Given the description of an element on the screen output the (x, y) to click on. 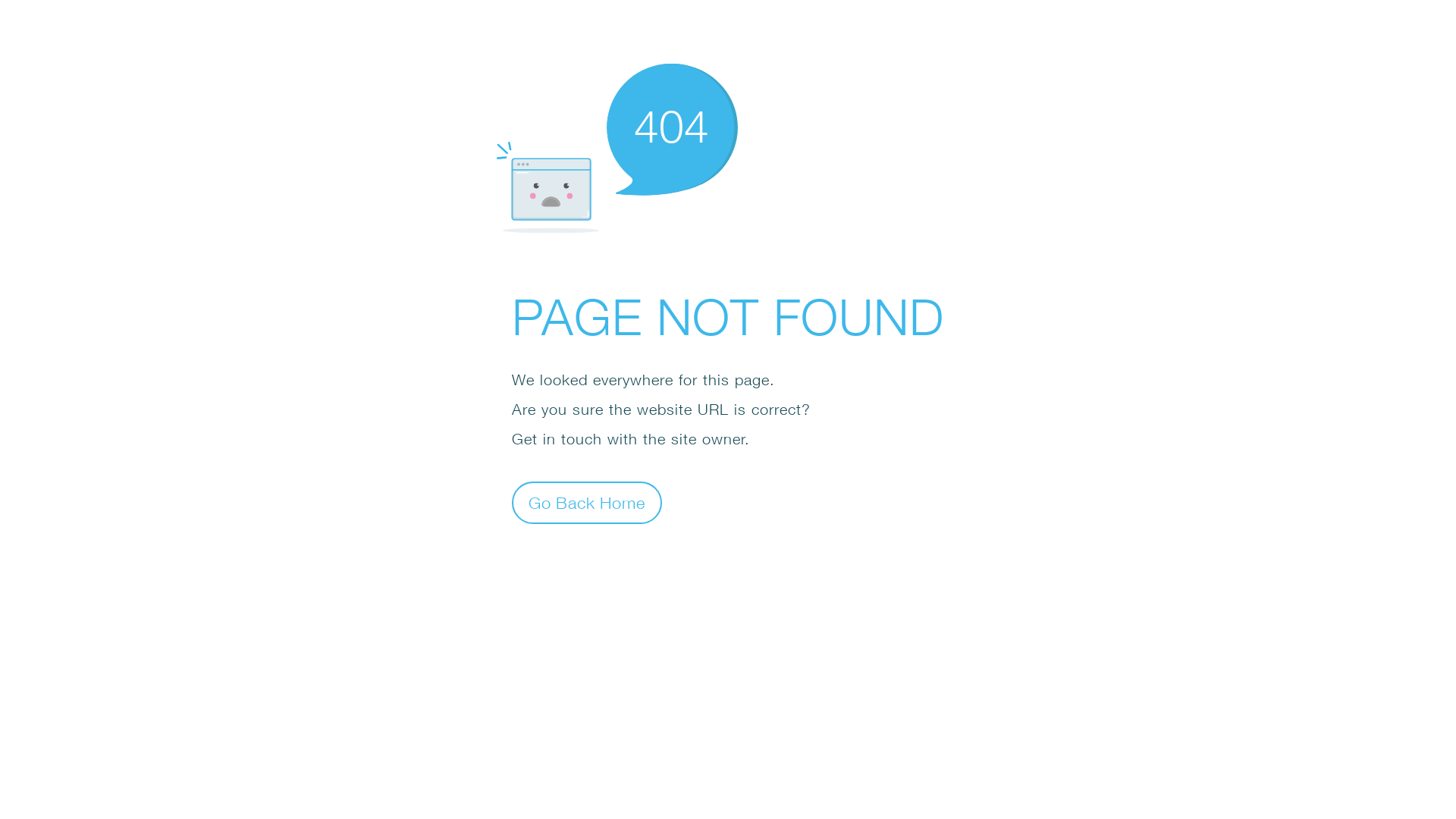
Go Back Home Element type: text (586, 502)
